Given the description of an element on the screen output the (x, y) to click on. 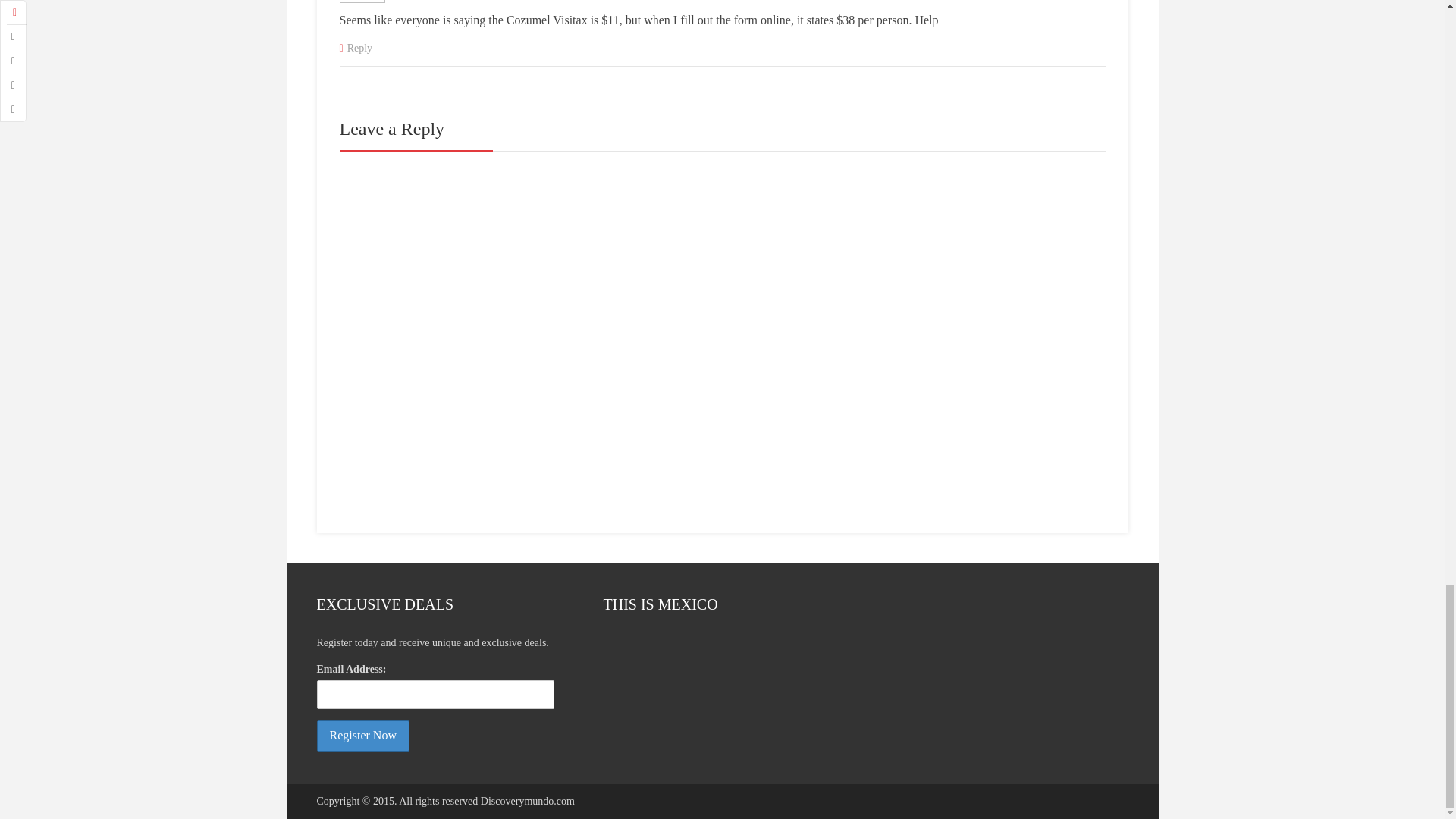
YouTube video player (717, 690)
Register Now (363, 735)
